Given the description of an element on the screen output the (x, y) to click on. 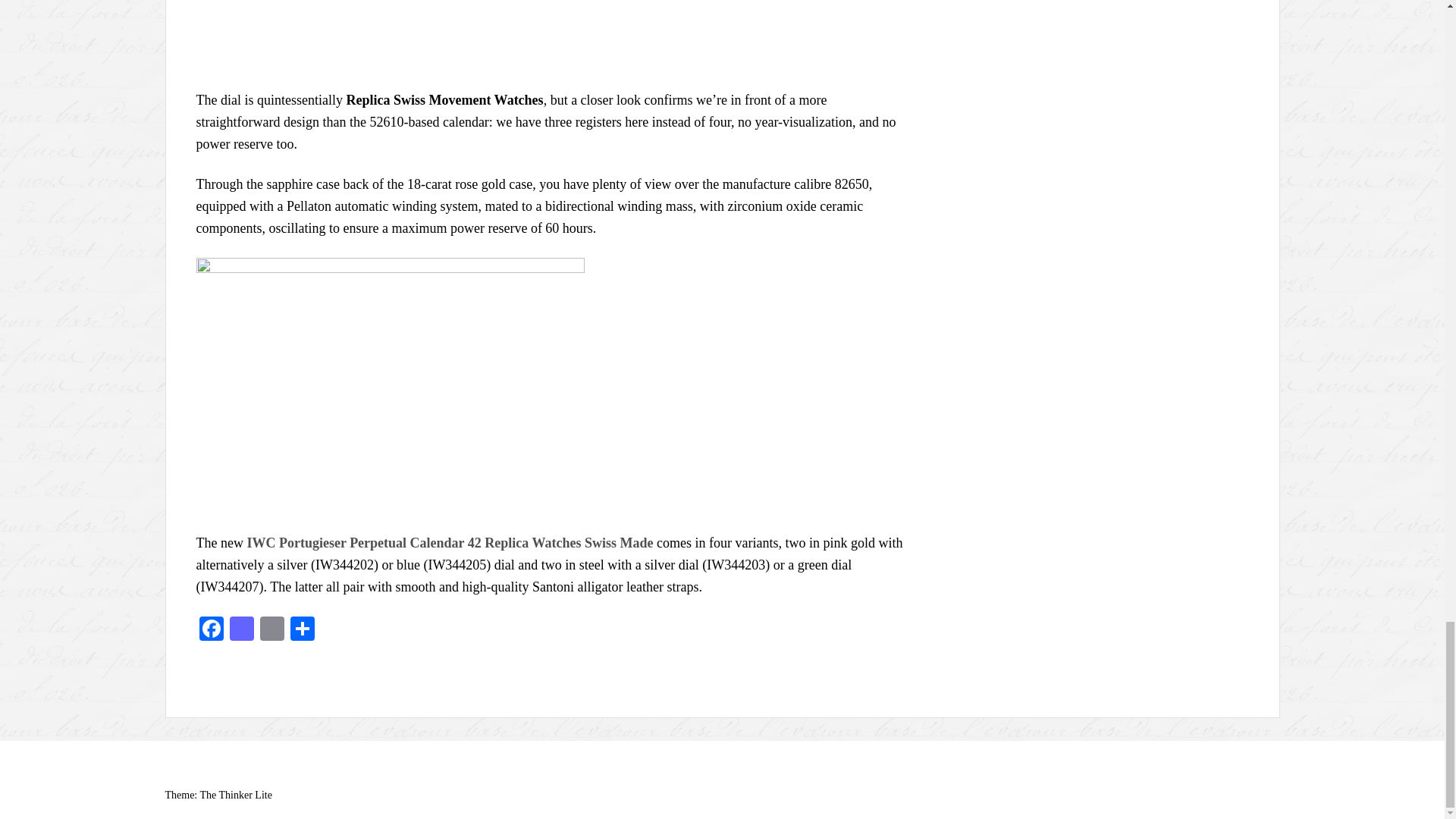
Email (271, 630)
Mastodon (240, 630)
Email (271, 630)
Mastodon (240, 630)
Facebook (210, 630)
Facebook (210, 630)
Share (301, 630)
